Given the description of an element on the screen output the (x, y) to click on. 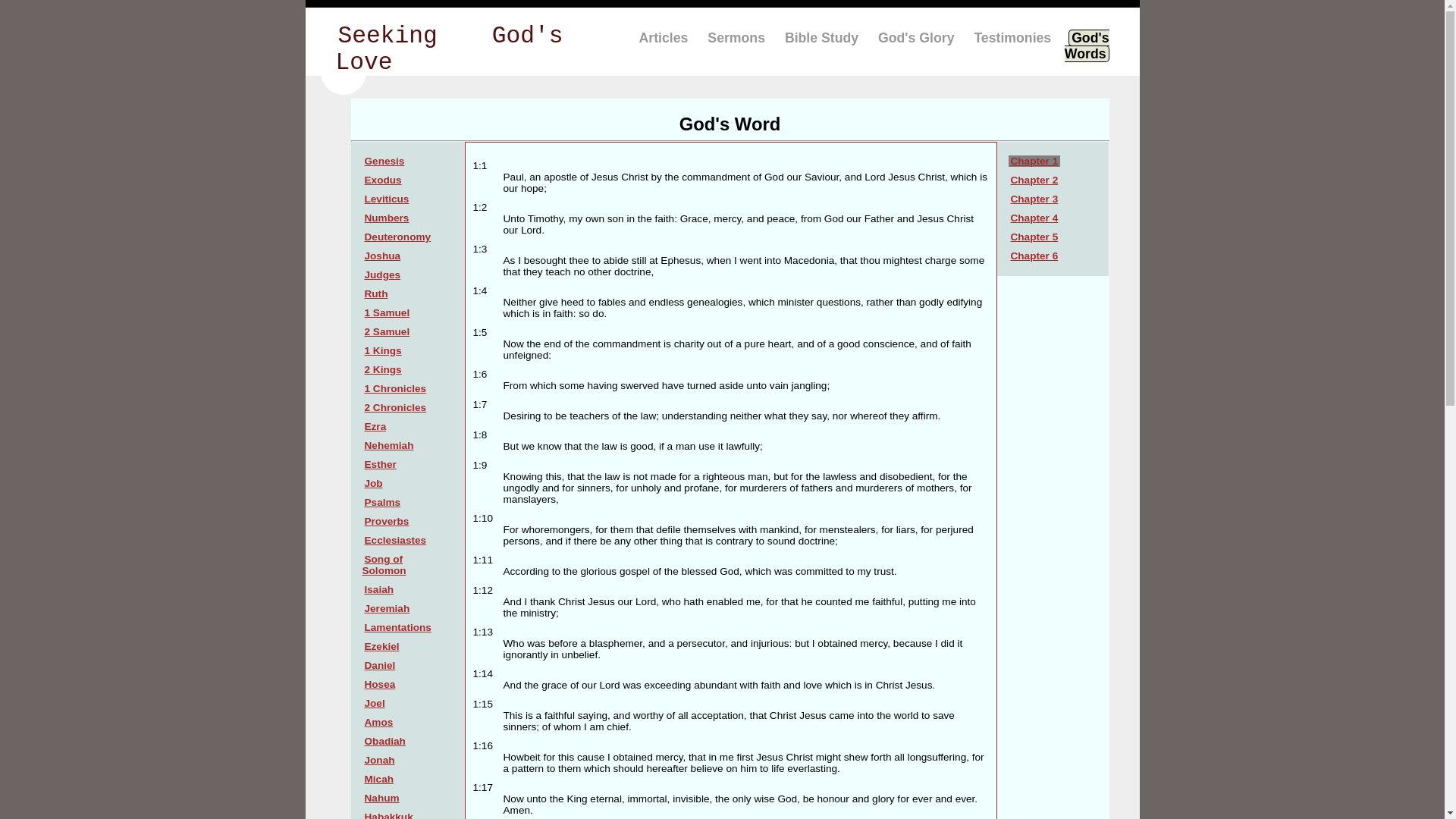
Isaiah (379, 589)
Esther (380, 464)
1 Kings (383, 350)
Numbers (387, 217)
Genesis (384, 161)
Daniel (379, 665)
1 Chronicles (395, 388)
Ecclesiastes (395, 540)
Lamentations (397, 627)
Micah (379, 778)
